Given the description of an element on the screen output the (x, y) to click on. 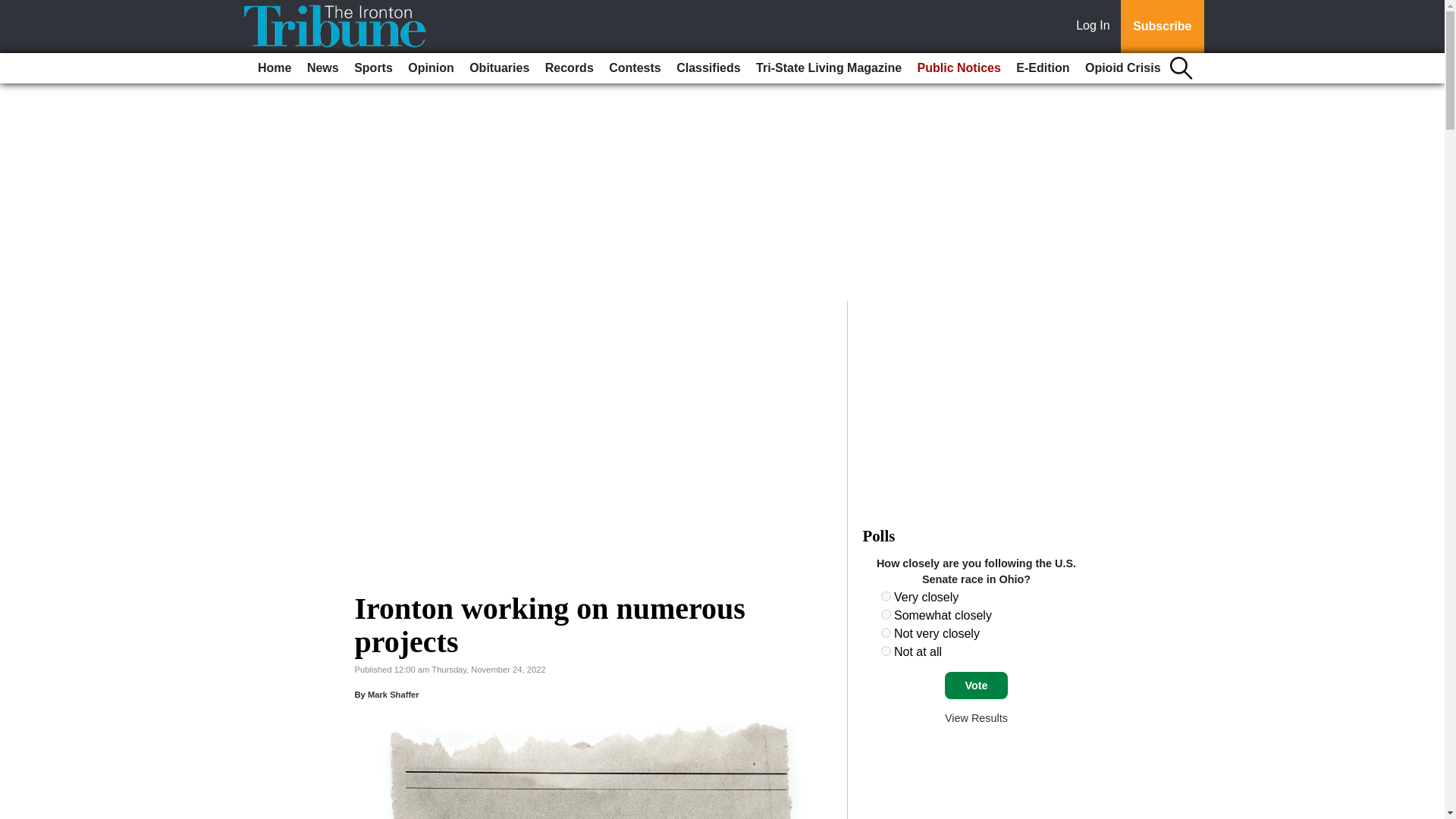
Public Notices (959, 68)
Contests (634, 68)
Obituaries (499, 68)
View Results (975, 717)
View Results Of This Poll (975, 717)
1434 (885, 633)
Mark Shaffer (393, 694)
News (323, 68)
E-Edition (1042, 68)
Subscribe (1162, 26)
Sports (372, 68)
Go (13, 9)
Tri-State Living Magazine (828, 68)
   Vote    (975, 685)
1435 (885, 651)
